Given the description of an element on the screen output the (x, y) to click on. 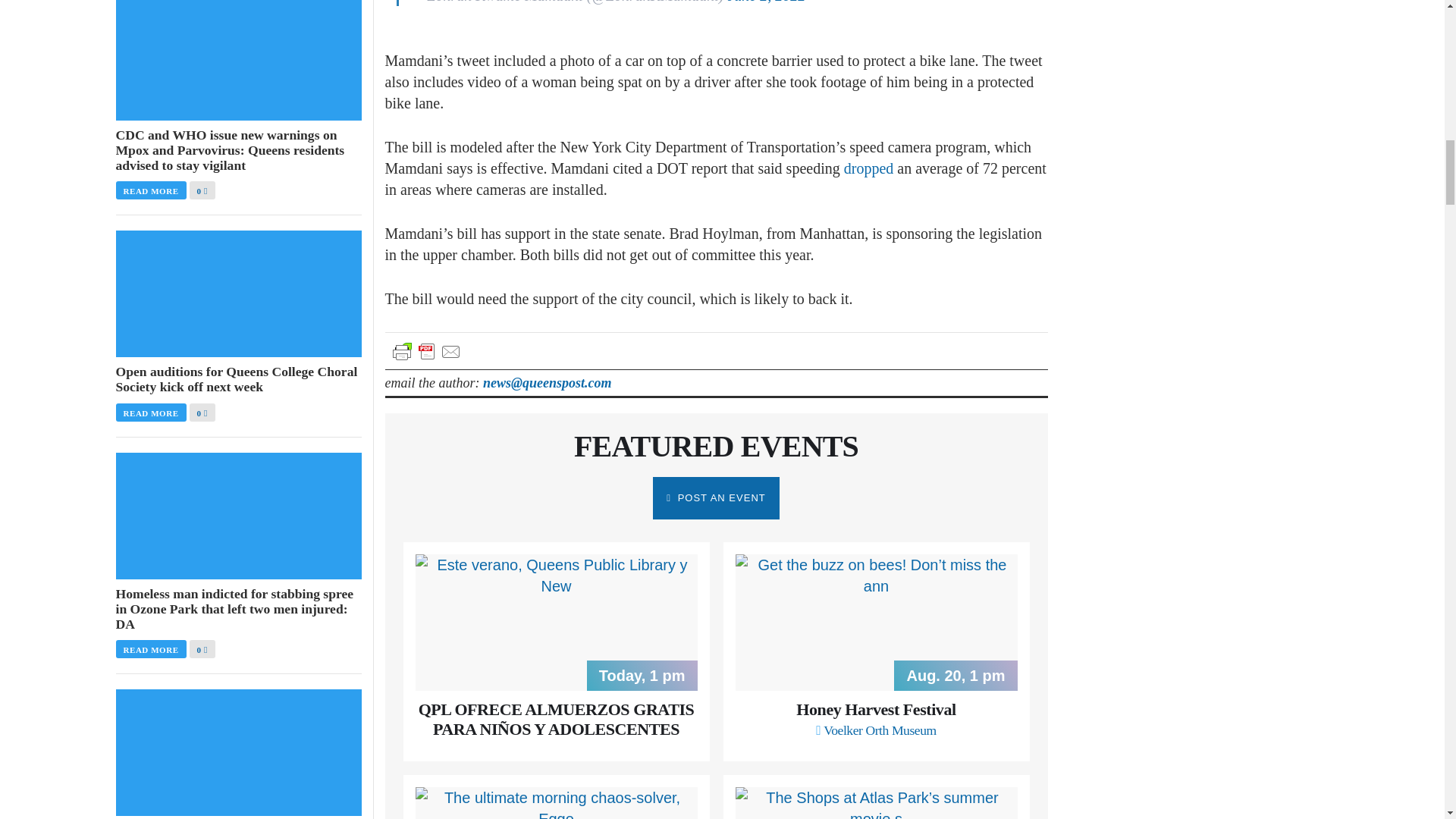
FEATURED EVENTS (716, 446)
June 2, 2022 (765, 2)
dropped (868, 167)
